Given the description of an element on the screen output the (x, y) to click on. 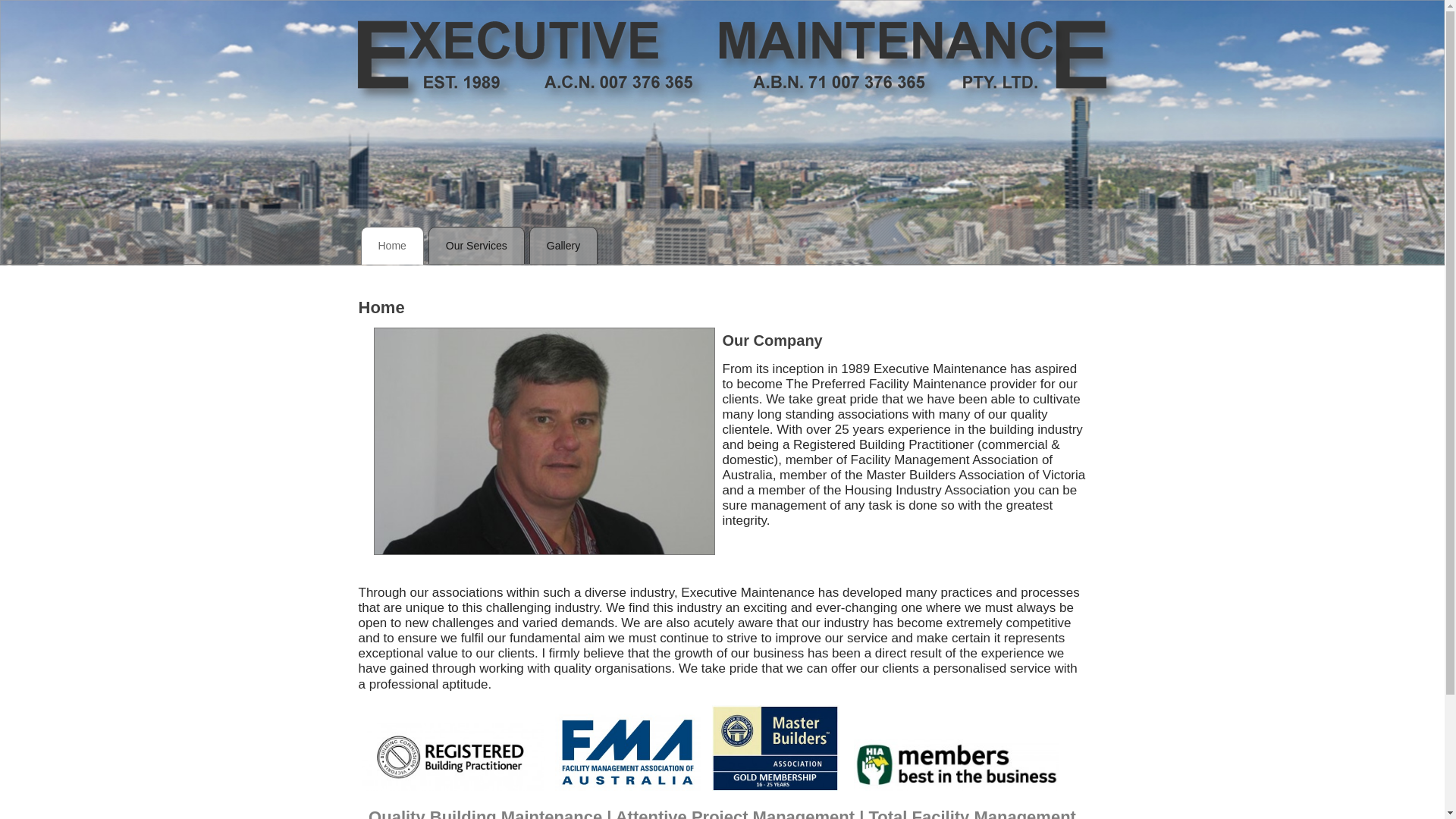
Our Services Element type: text (476, 244)
Home Element type: text (391, 245)
Gallery Element type: text (563, 244)
